Given the description of an element on the screen output the (x, y) to click on. 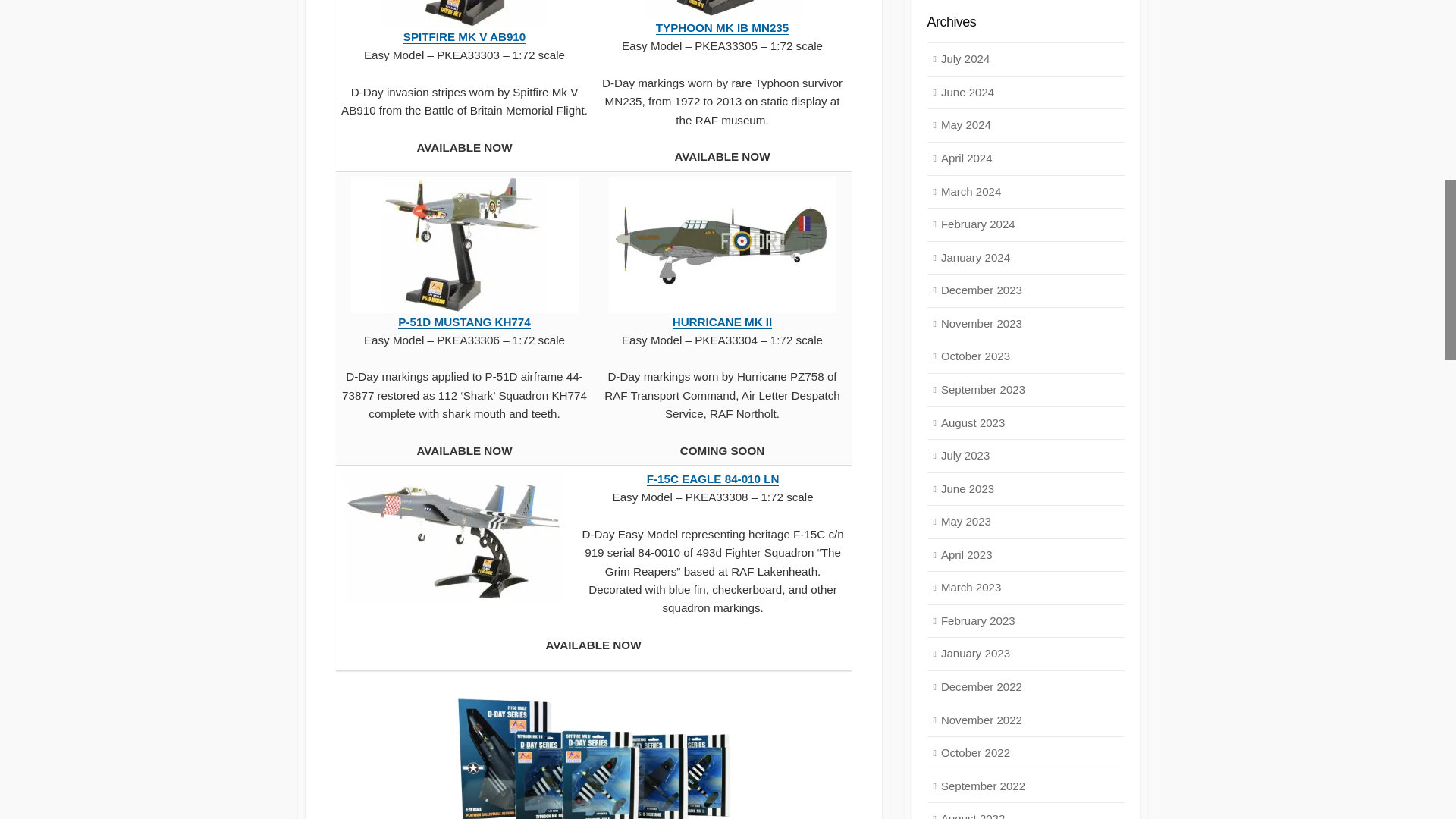
P-51D MUSTANG KH774 (463, 321)
SPITFIRE MK V AB910 (464, 36)
F-15C EAGLE 84-010 LN (712, 478)
HURRICANE MK II (722, 321)
TYPHOON MK IB MN235 (722, 27)
